Given the description of an element on the screen output the (x, y) to click on. 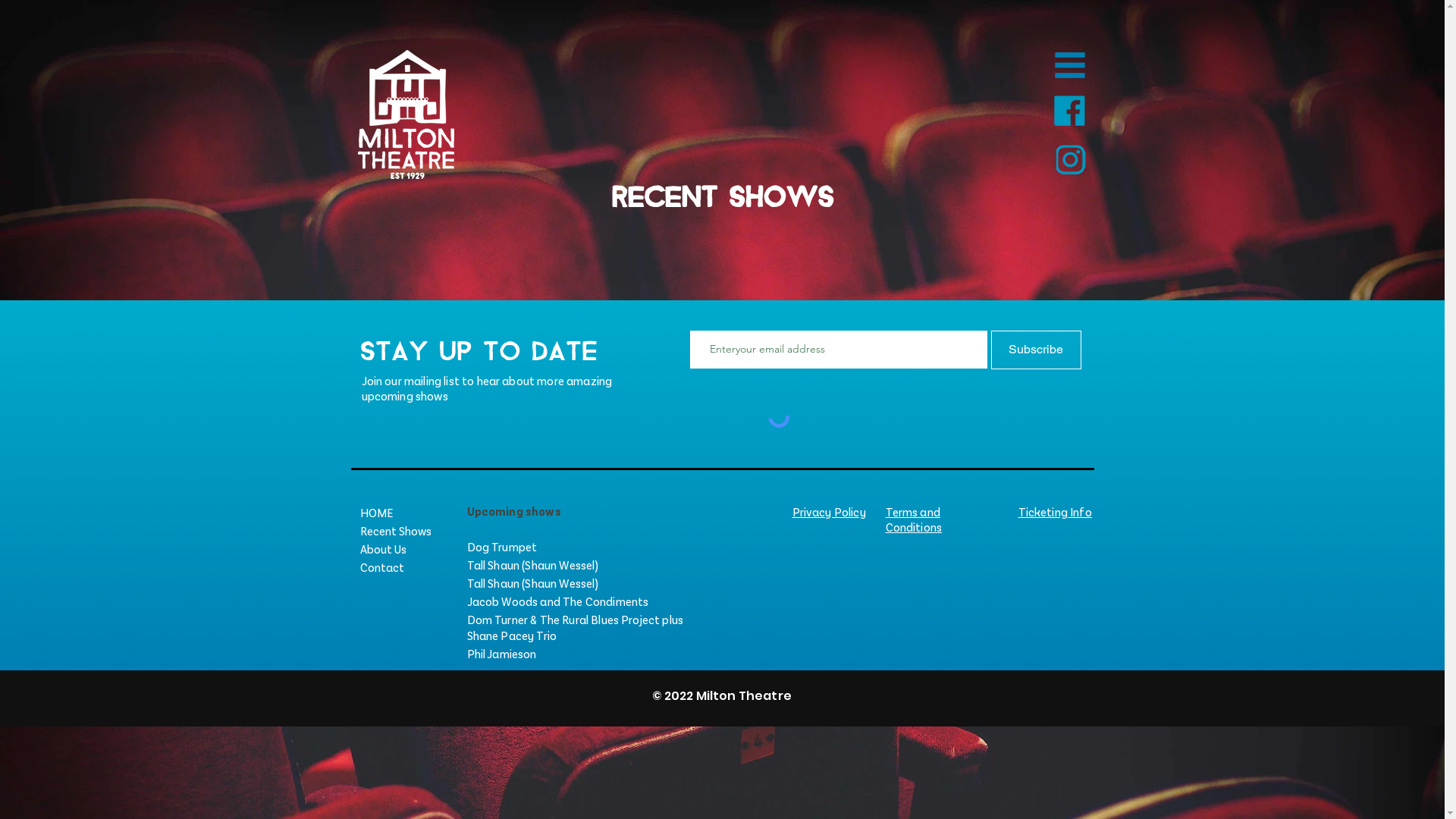
Ticketing Info Element type: text (1054, 512)
Instagram Feeds Element type: hover (721, 284)
HOME Element type: text (514, 512)
Privacy Policy Element type: text (828, 512)
Contact Element type: text (514, 567)
Recent Shows Element type: text (514, 530)
About Us Element type: text (514, 548)
Terms and Conditions Element type: text (913, 519)
Subscribe Element type: text (1035, 349)
